Given the description of an element on the screen output the (x, y) to click on. 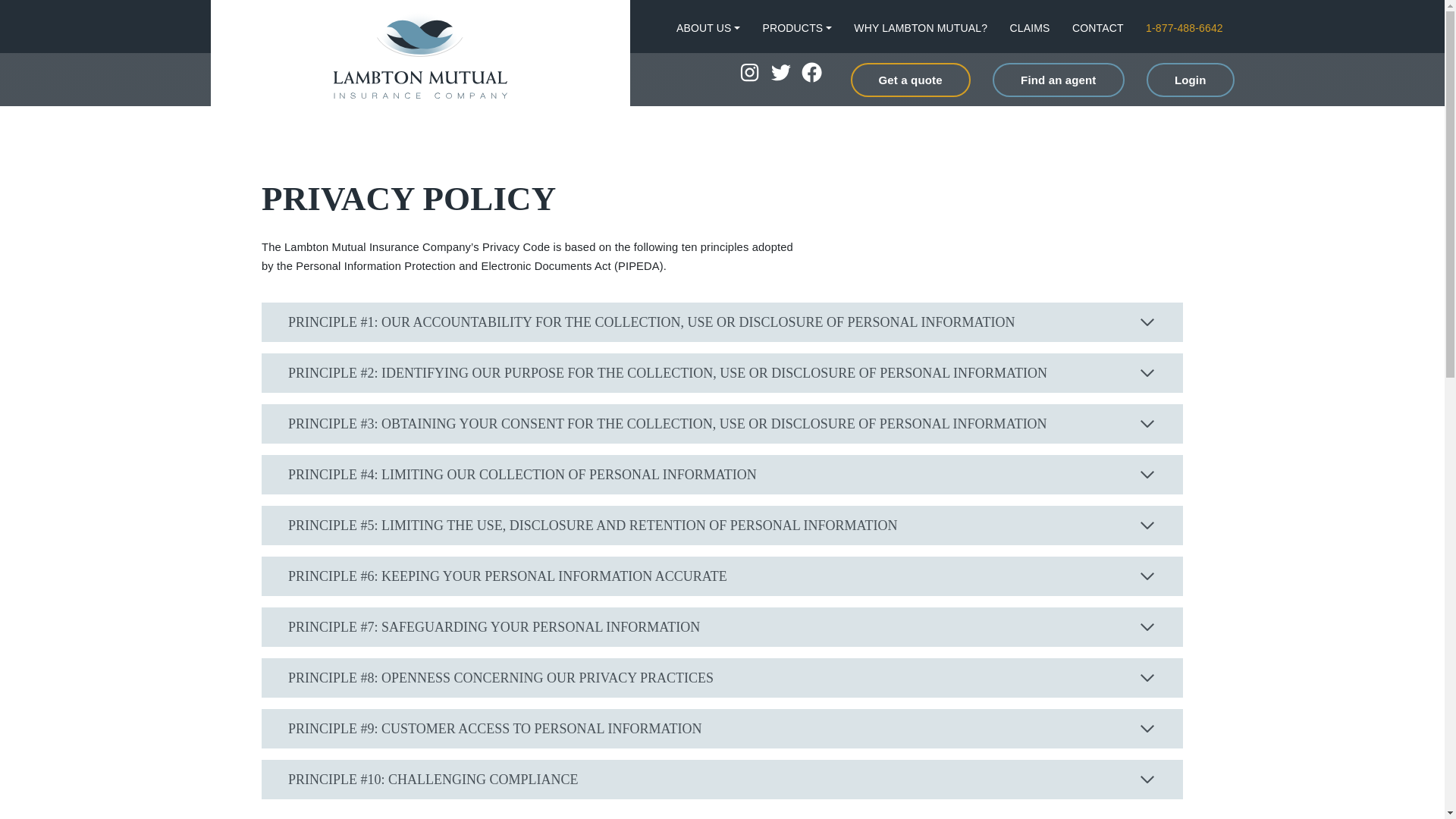
CONTACT (1097, 28)
Why Lambton Mutual? (920, 28)
1-877-488-6642 (1184, 28)
Contact (1097, 28)
Claims (1029, 28)
1-877-488-6642 (1184, 28)
Login (1190, 80)
ABOUT US (708, 28)
CLAIMS (1029, 28)
Find an agent (1058, 80)
PRODUCTS (796, 28)
Get a quote (910, 80)
About Us (708, 28)
WHY LAMBTON MUTUAL? (920, 28)
Products (796, 28)
